Given the description of an element on the screen output the (x, y) to click on. 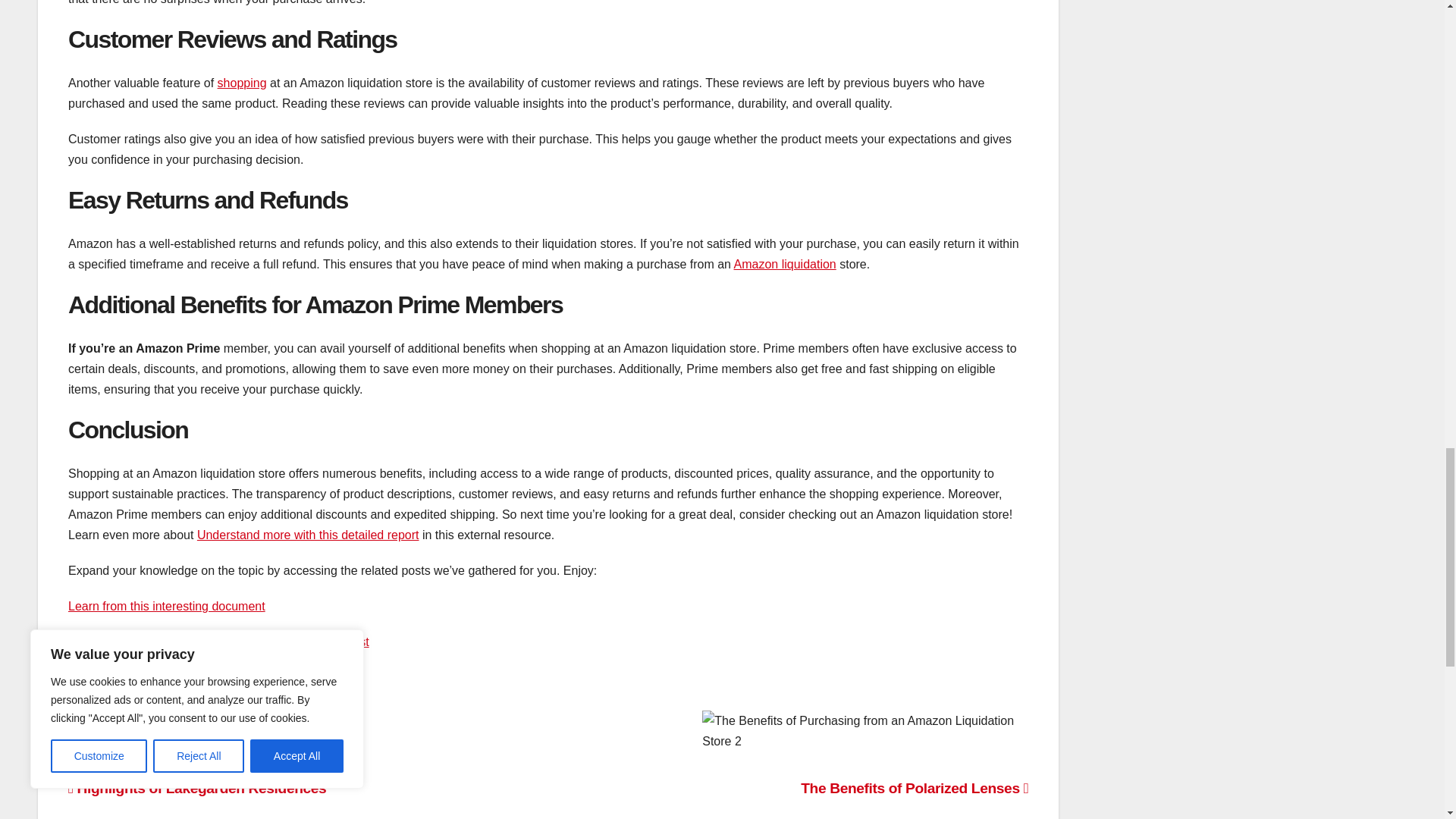
Check out this informative source (157, 676)
shopping (241, 82)
Highlights of Lakegarden Residences (197, 788)
Amazon liquidation (784, 264)
Learn from this interesting document (166, 605)
The Benefits of Polarized Lenses (913, 788)
Gain a better understanding with this material of interest (218, 641)
Find additional insights here (143, 712)
Understand more with this detailed report (307, 534)
